Given the description of an element on the screen output the (x, y) to click on. 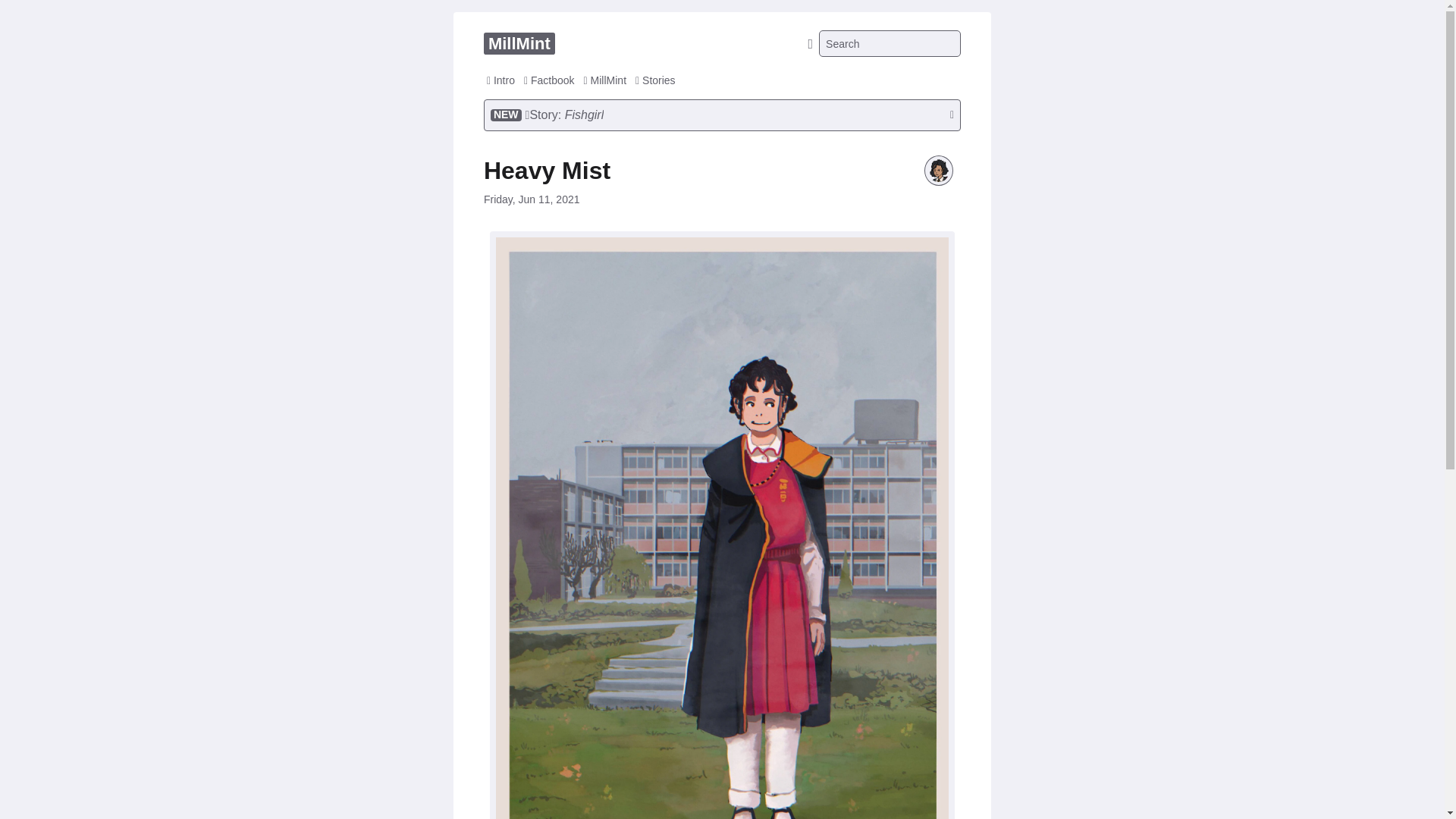
MillMint (518, 43)
